Given the description of an element on the screen output the (x, y) to click on. 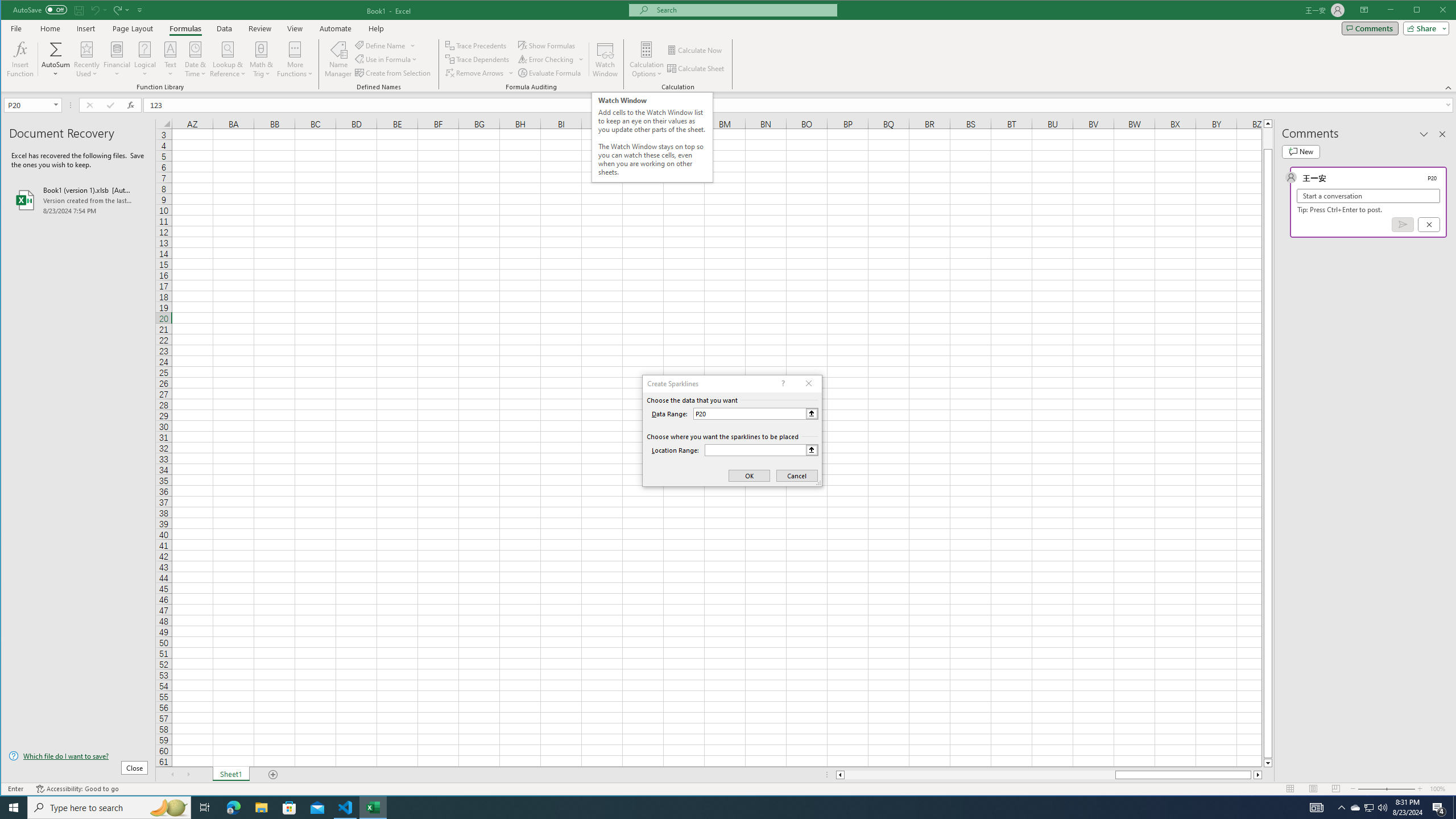
Text (170, 59)
Logical (144, 59)
Remove Arrows (475, 72)
Calculation Options (646, 59)
AutoSum (55, 59)
